Given the description of an element on the screen output the (x, y) to click on. 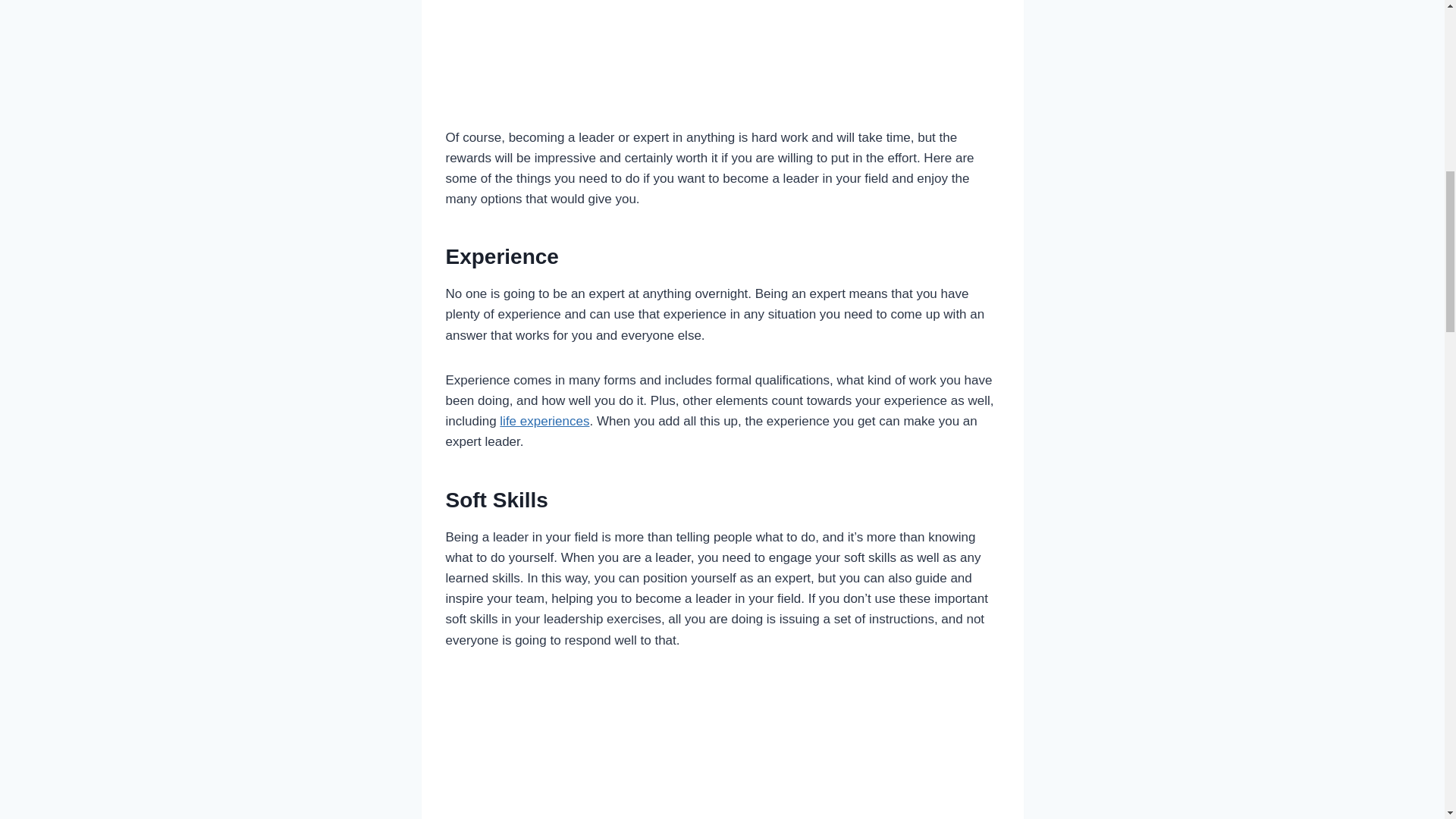
life experiences (544, 421)
